Given the description of an element on the screen output the (x, y) to click on. 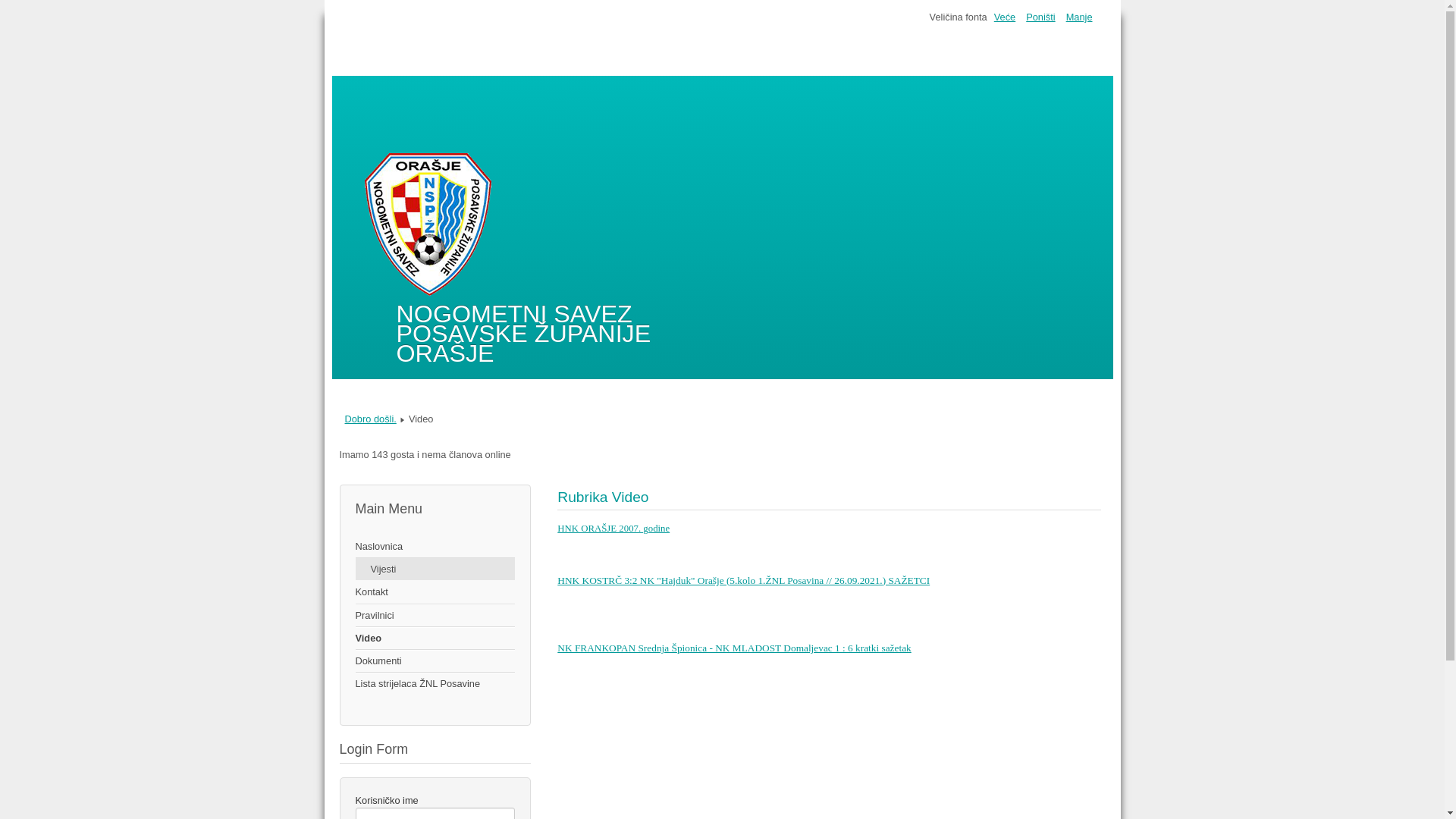
Video Element type: text (434, 638)
Manje Element type: text (1079, 16)
Vijesti Element type: text (434, 569)
Dokumenti Element type: text (434, 660)
Pravilnici Element type: text (434, 615)
Naslovnica Element type: text (434, 546)
Rubrika Video Element type: text (602, 497)
Kontakt Element type: text (434, 591)
